Given the description of an element on the screen output the (x, y) to click on. 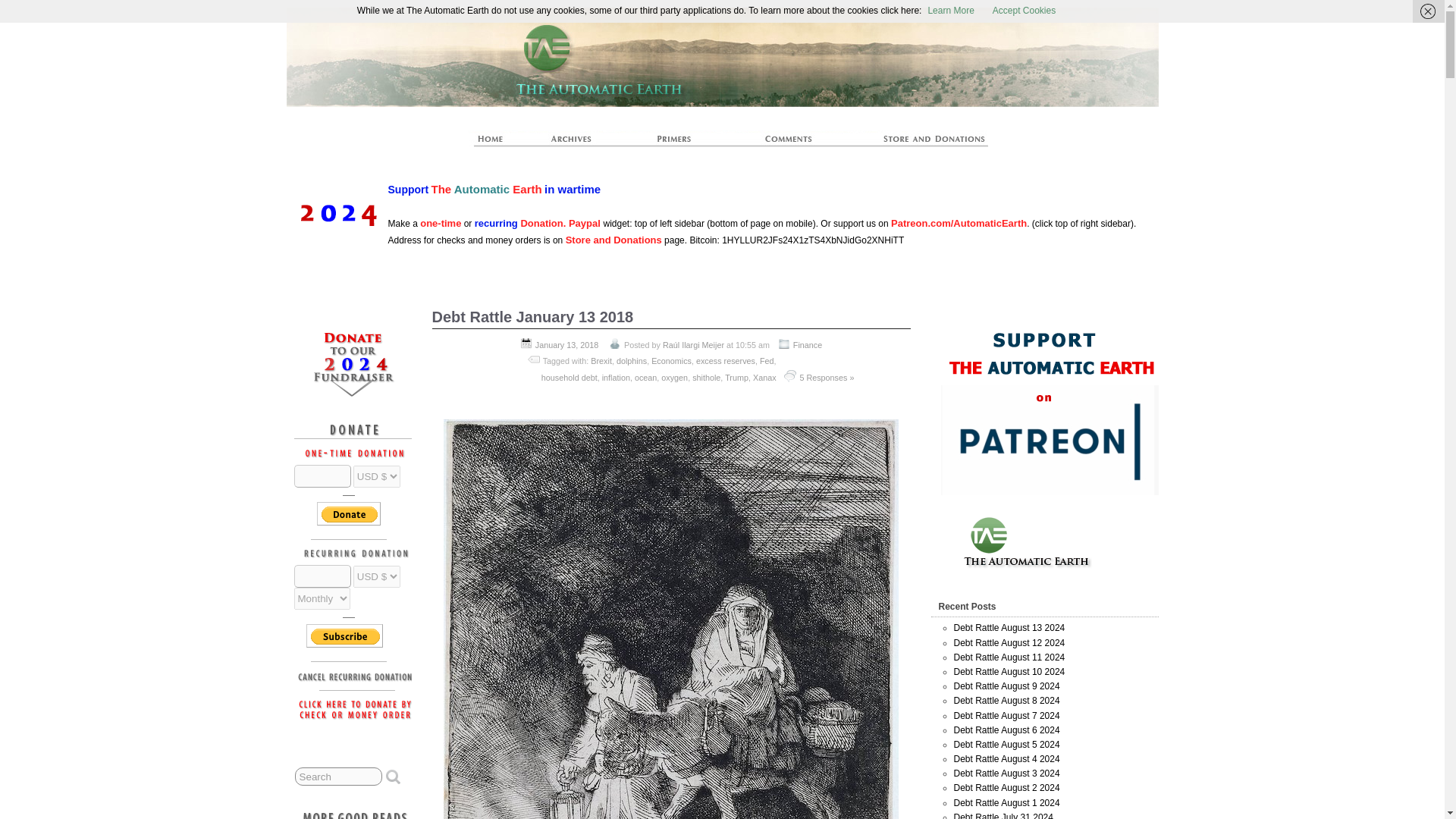
ocean (645, 377)
Xanax (764, 377)
Store And Donations (916, 143)
Trump (736, 377)
Fed (767, 360)
Primers (680, 143)
Search (338, 776)
Store and Donations (614, 240)
dolphins (630, 360)
Debt Rattle January 13 2018 (532, 316)
